Given the description of an element on the screen output the (x, y) to click on. 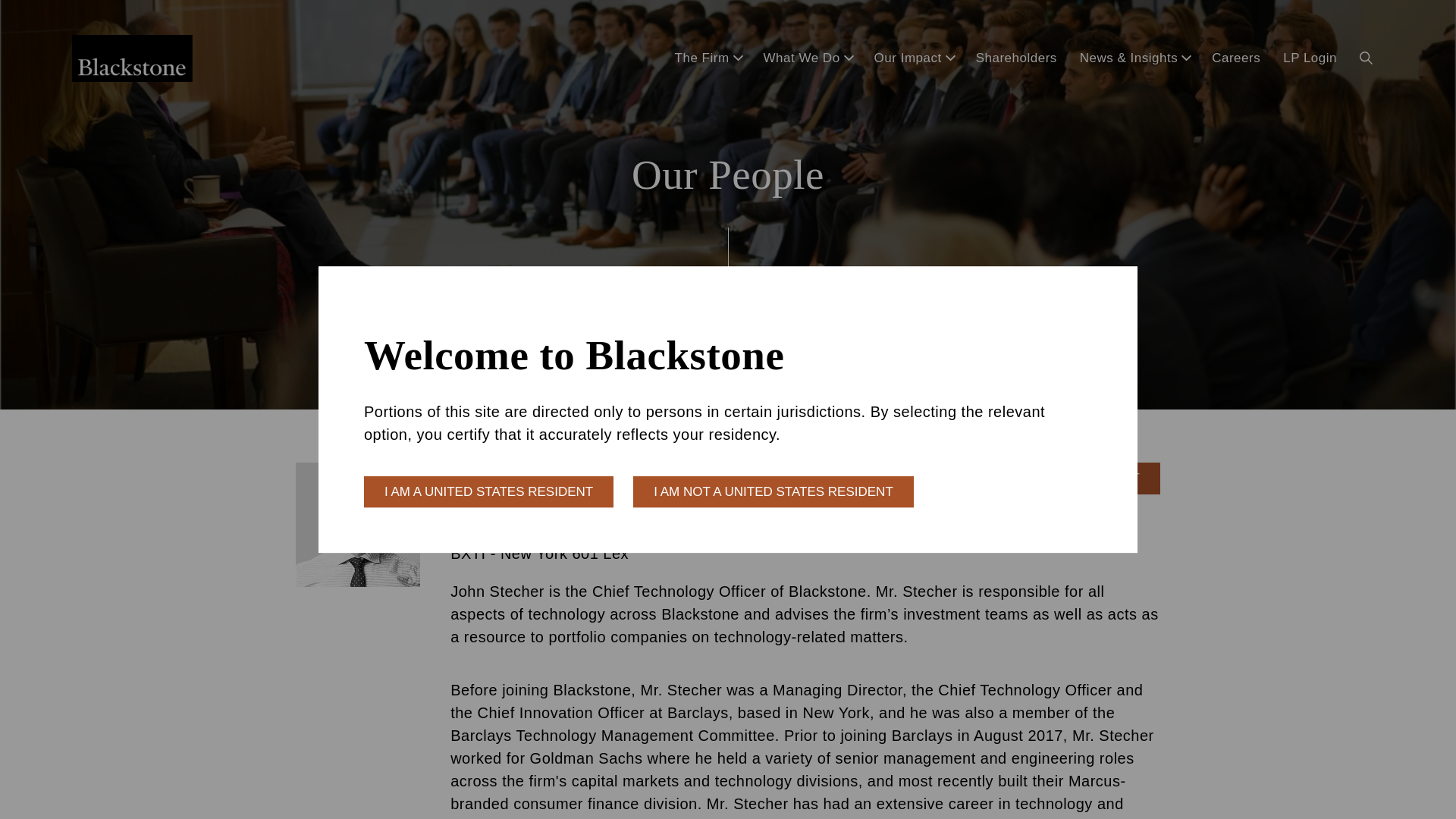
Blackstone (131, 58)
Our Impact (913, 58)
What We Do (807, 58)
The Firm (707, 58)
